Given the description of an element on the screen output the (x, y) to click on. 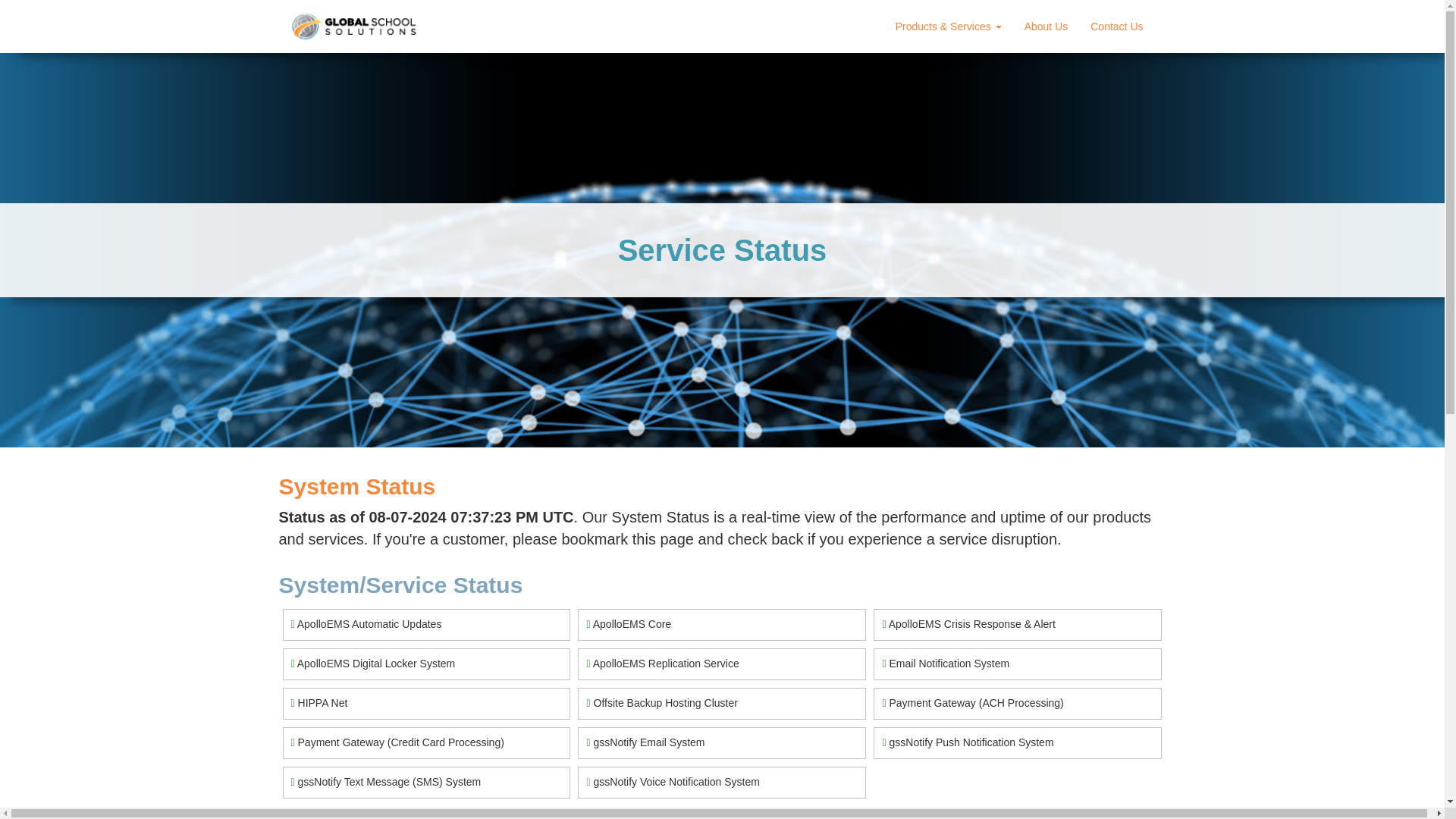
About Us (1046, 26)
Contact Us (1116, 26)
